Given the description of an element on the screen output the (x, y) to click on. 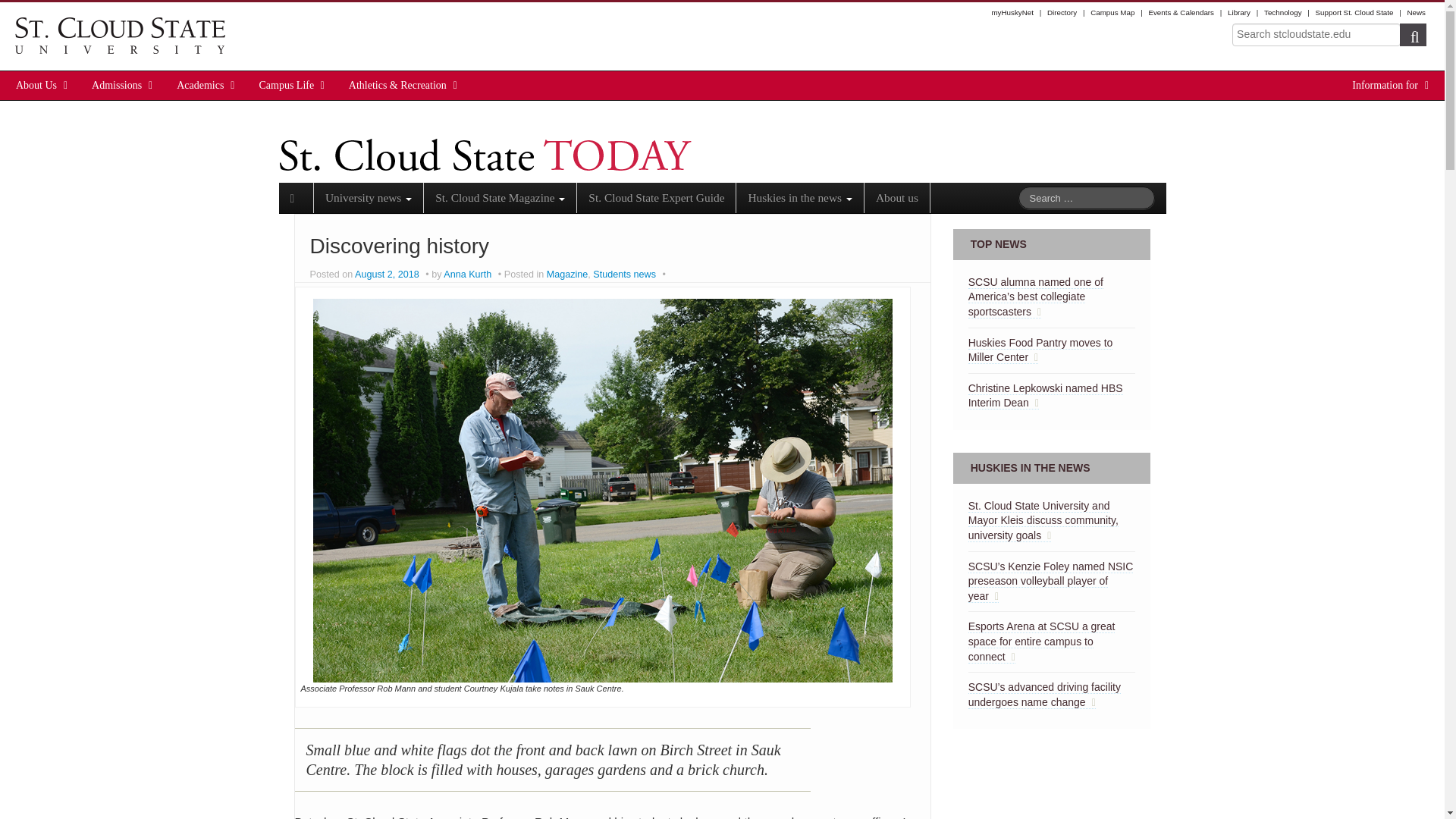
11:23 am (388, 274)
About Us (36, 85)
Academics (199, 85)
Search stcloudstate.edu (1315, 34)
Campus Life (286, 85)
Search stcloudstate.edu (1315, 34)
Admissions (116, 85)
View all posts by Anna Kurth (468, 274)
